Given the description of an element on the screen output the (x, y) to click on. 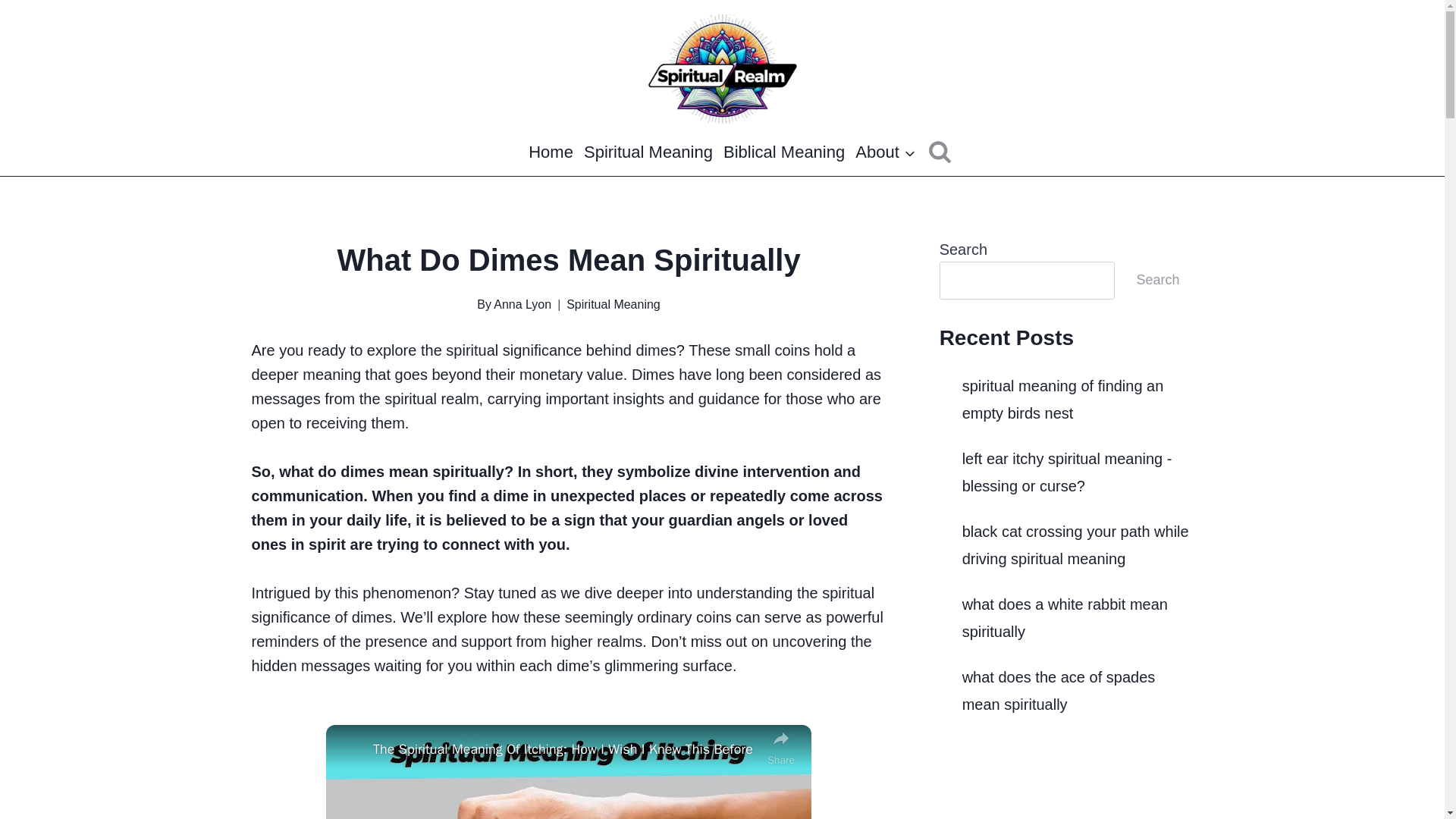
Biblical Meaning (783, 152)
Spiritual Meaning (647, 152)
Anna Lyon (522, 304)
Home (550, 152)
About (885, 152)
Spiritual Meaning (613, 304)
